Given the description of an element on the screen output the (x, y) to click on. 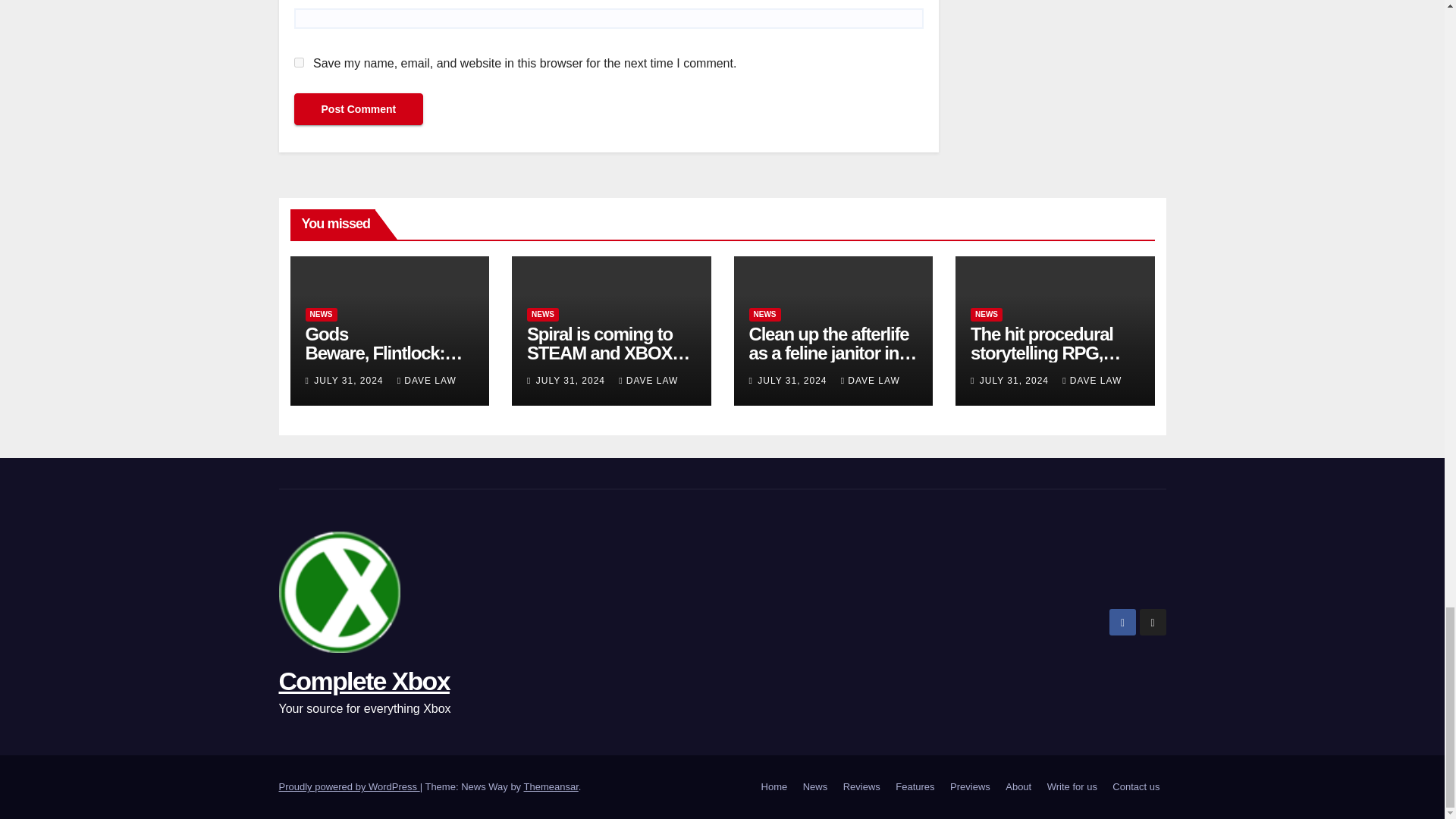
Post Comment (358, 109)
yes (299, 62)
